Given the description of an element on the screen output the (x, y) to click on. 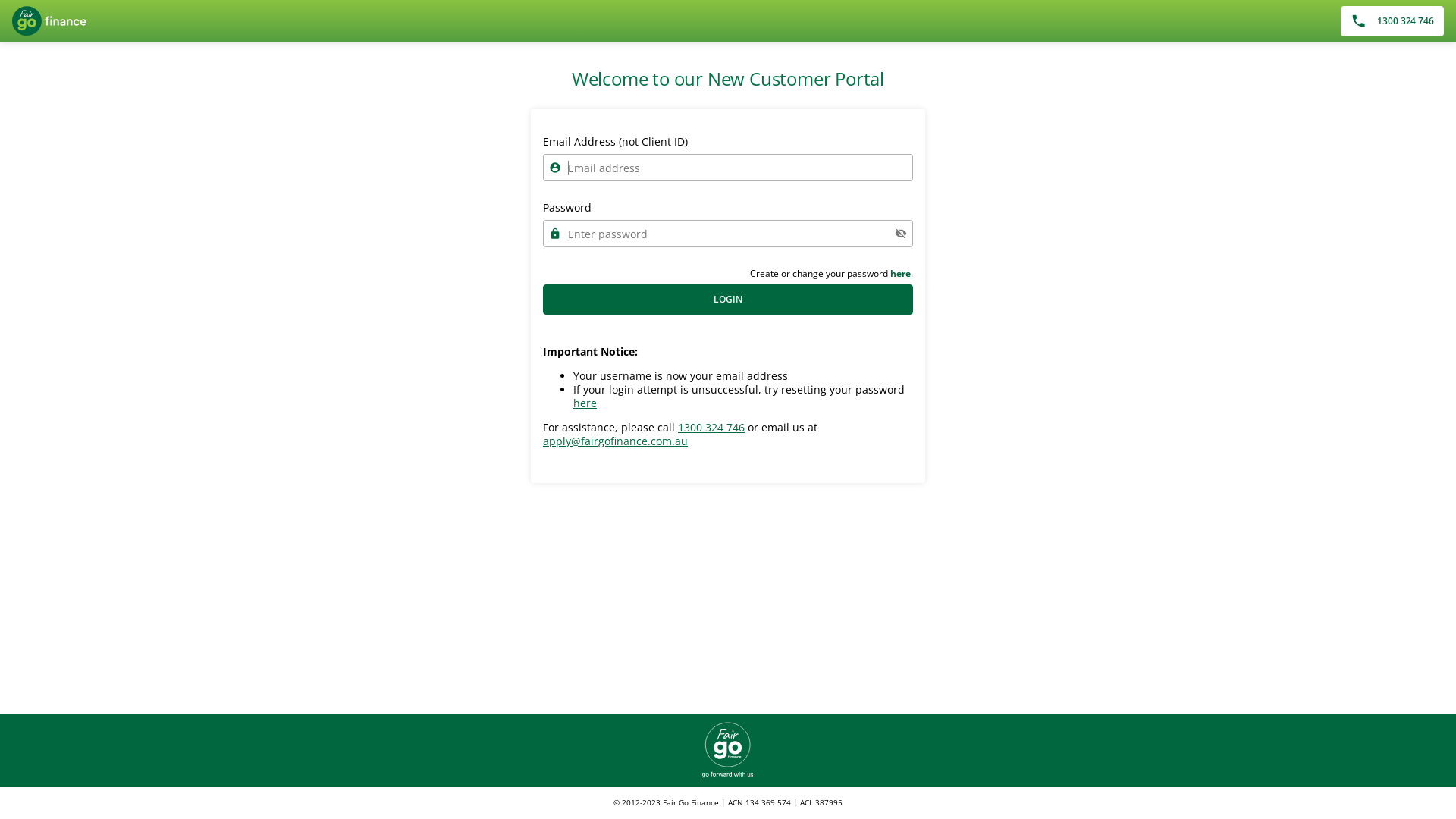
here Element type: text (584, 402)
1300 324 746 Element type: text (710, 427)
LOGIN Element type: text (727, 299)
here Element type: text (900, 272)
1300 324 746 Element type: text (1391, 21)
apply@fairgofinance.com.au Element type: text (614, 440)
